Given the description of an element on the screen output the (x, y) to click on. 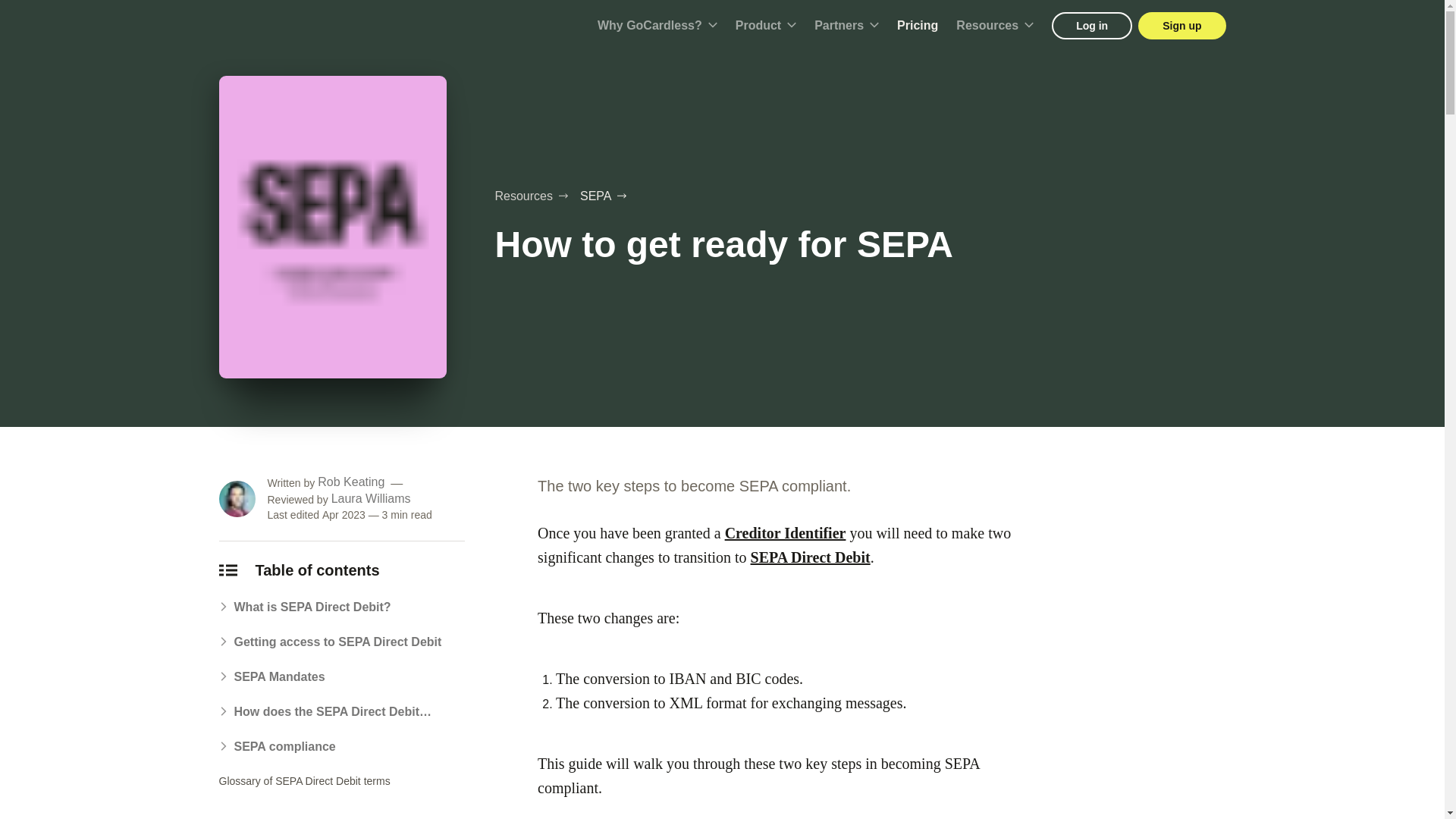
Product (765, 25)
Why GoCardless? (656, 25)
